Given the description of an element on the screen output the (x, y) to click on. 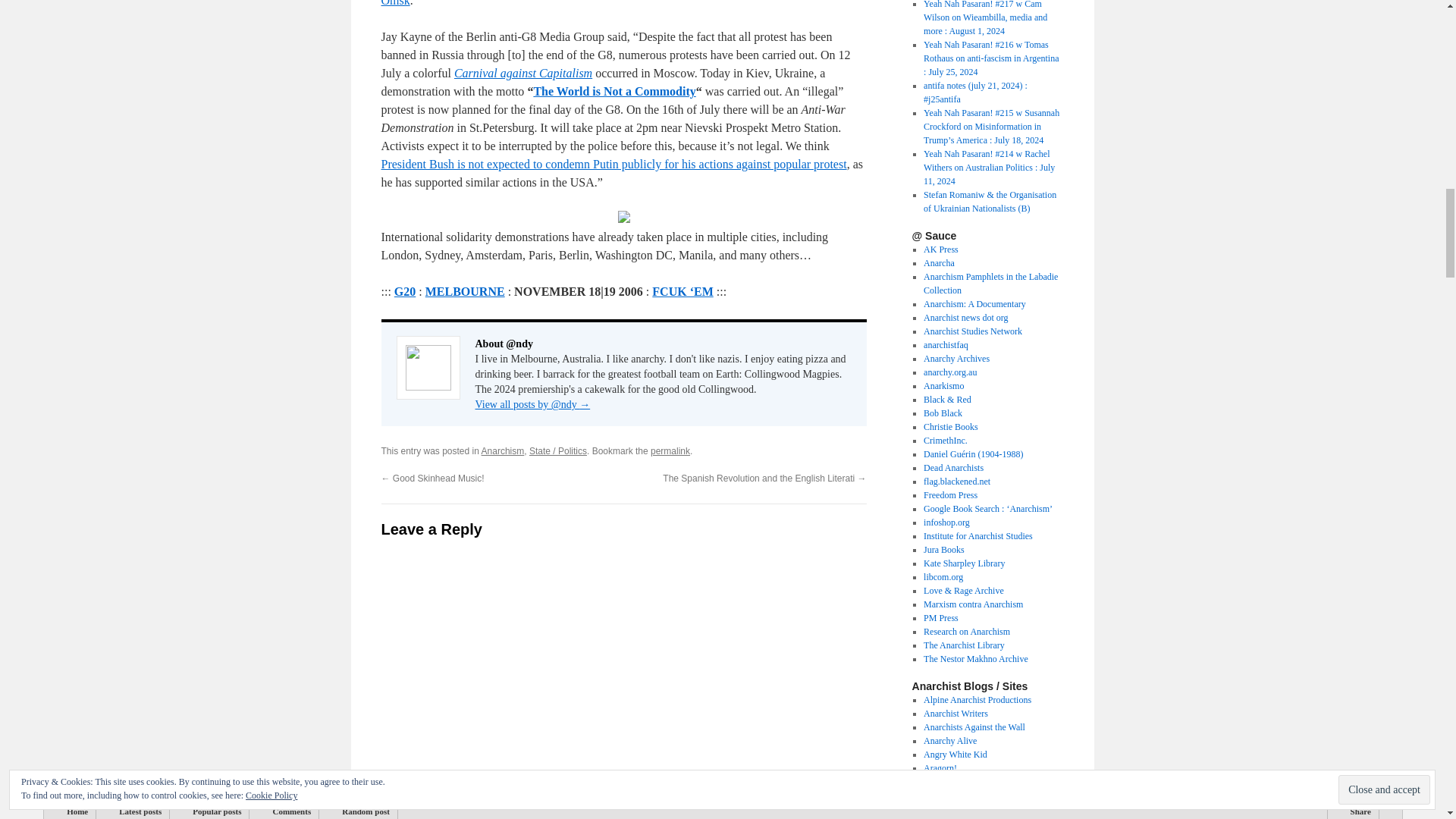
Permalink to FCUK the G8! (670, 450)
Anarchism (502, 450)
Comment Form (623, 687)
G20 (404, 291)
The World is Not a Commodity (613, 91)
Omsk (394, 3)
Carnival against Capitalism (523, 72)
MELBOURNE (465, 291)
